Given the description of an element on the screen output the (x, y) to click on. 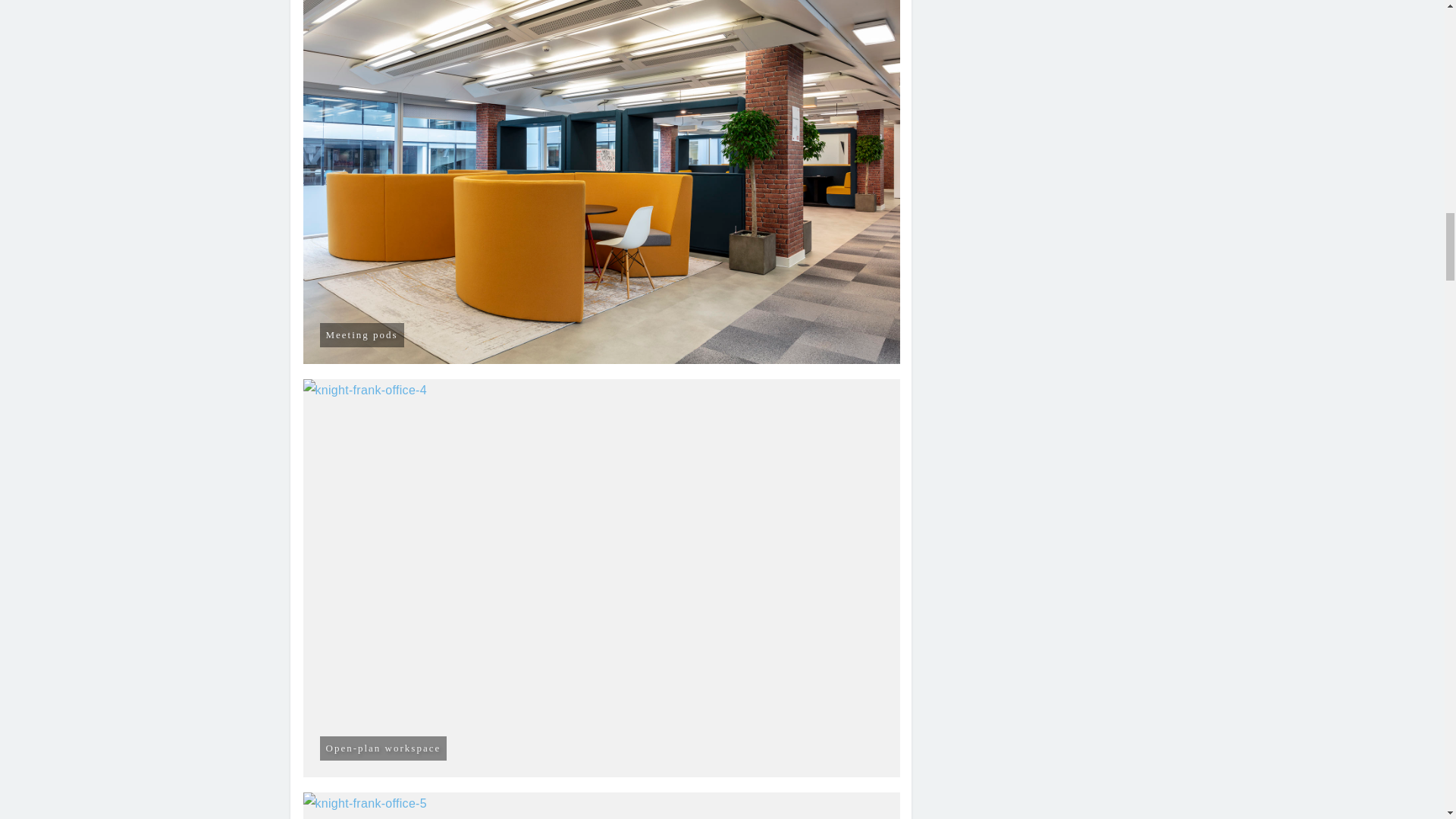
Open-plan workspace (601, 805)
